Given the description of an element on the screen output the (x, y) to click on. 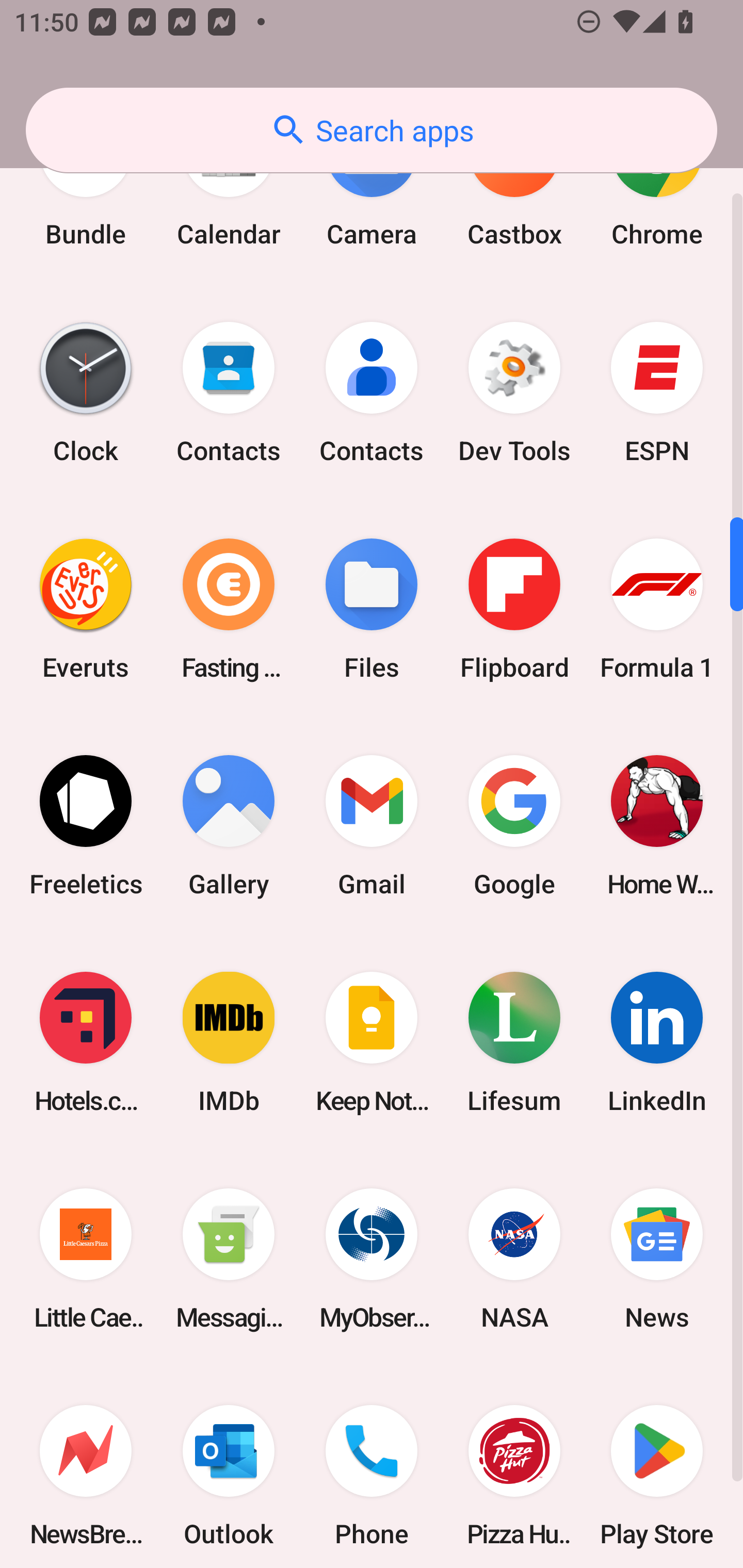
  Search apps (371, 130)
Clock (85, 391)
Contacts (228, 391)
Contacts (371, 391)
Dev Tools (514, 391)
ESPN (656, 391)
Everuts (85, 609)
Fasting Coach (228, 609)
Files (371, 609)
Flipboard (514, 609)
Formula 1 (656, 609)
Freeletics (85, 826)
Gallery (228, 826)
Gmail (371, 826)
Google (514, 826)
Home Workout (656, 826)
Hotels.com (85, 1042)
IMDb (228, 1042)
Keep Notes (371, 1042)
Lifesum (514, 1042)
LinkedIn (656, 1042)
Little Caesars Pizza (85, 1258)
Messaging (228, 1258)
MyObservatory (371, 1258)
NASA (514, 1258)
News (656, 1258)
NewsBreak (85, 1467)
Outlook (228, 1467)
Phone (371, 1467)
Pizza Hut HK & Macau (514, 1467)
Play Store (656, 1467)
